Given the description of an element on the screen output the (x, y) to click on. 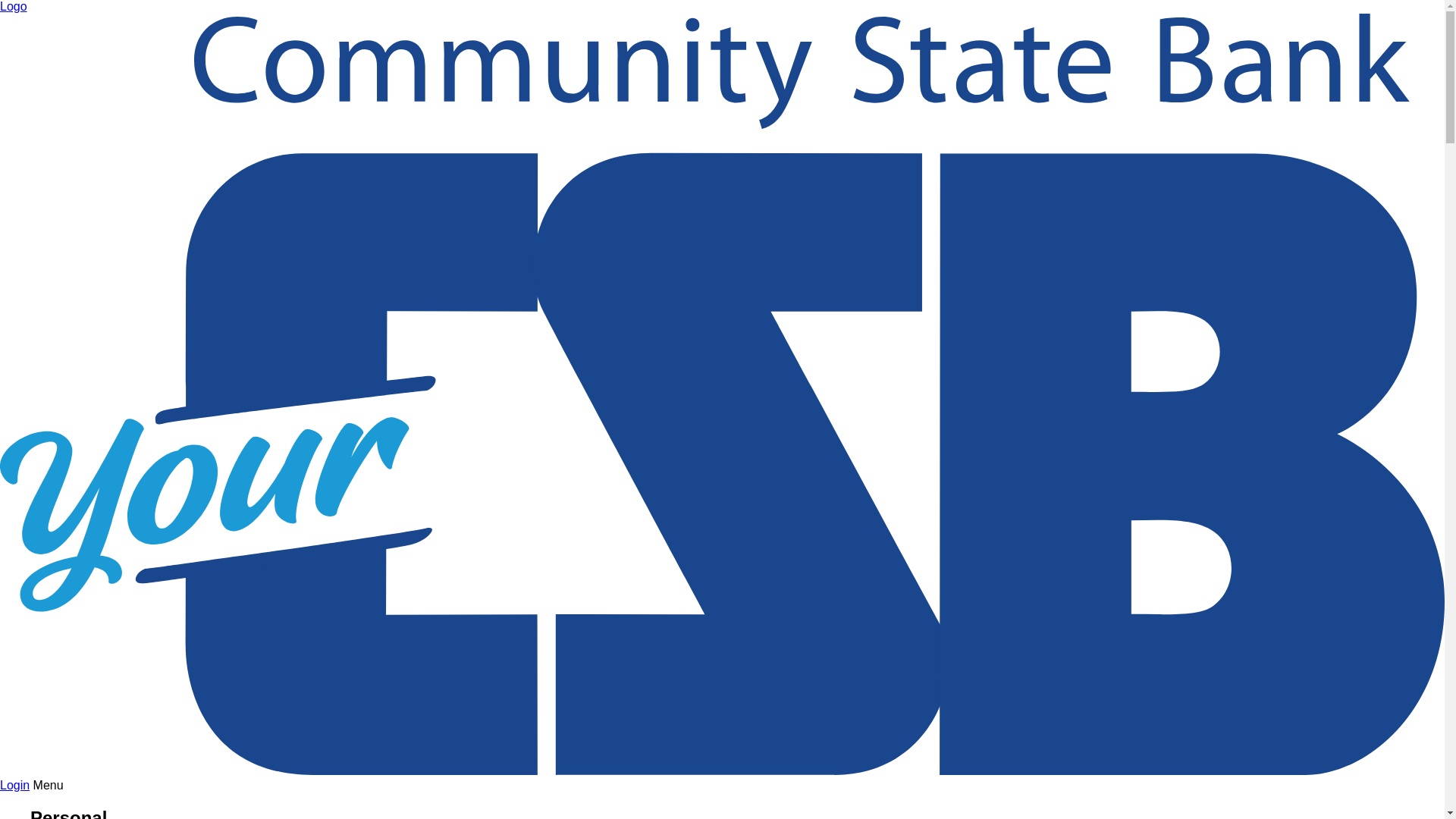
Login Element type: text (14, 784)
Menu Element type: text (48, 784)
